Given the description of an element on the screen output the (x, y) to click on. 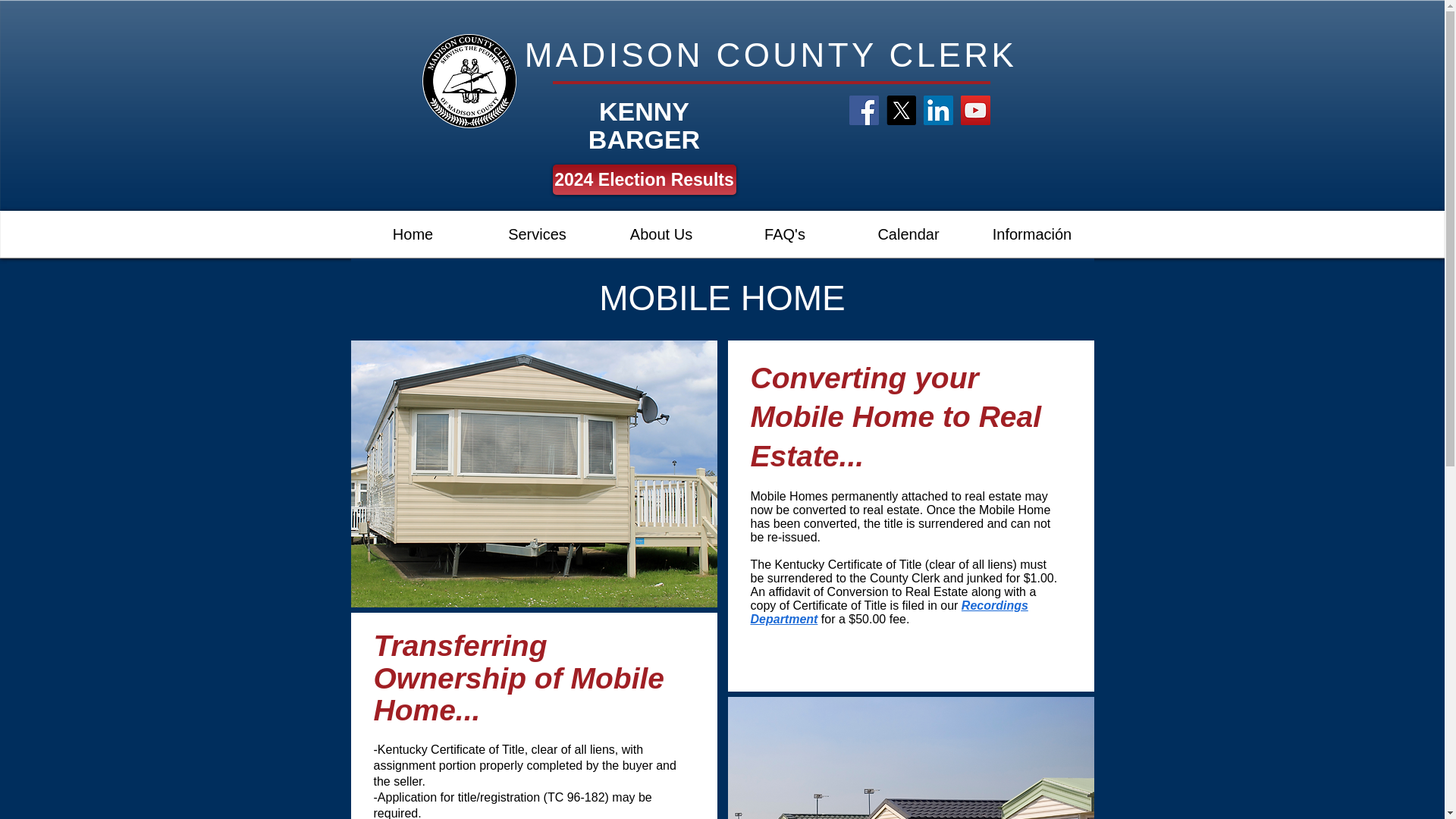
Recordings Department (889, 611)
Home (412, 233)
KENNY BARGER (644, 125)
FAQ's (785, 233)
Calendar (907, 233)
MADISON COUNTY CLERK (770, 54)
2024 Election Results (643, 179)
